Given the description of an element on the screen output the (x, y) to click on. 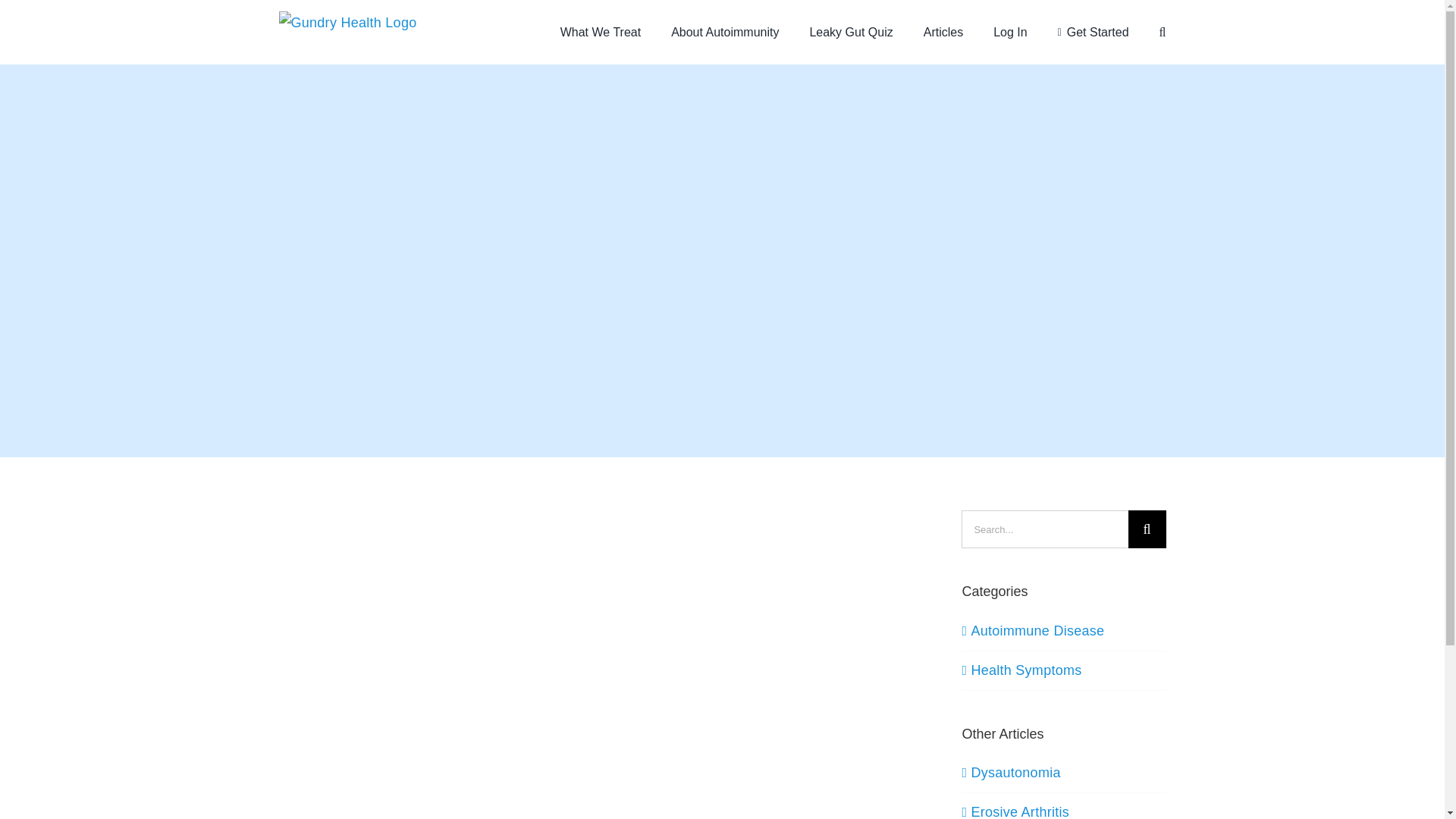
Dysautonomia (1015, 772)
Search (1162, 32)
About Autoimmunity (724, 32)
Leaky Gut Quiz (850, 32)
Health Symptoms (1064, 670)
What We Treat (600, 32)
Get Started (1093, 32)
Log In (1009, 32)
Erosive Arthritis (1019, 811)
Articles (942, 32)
Autoimmune Disease (1064, 630)
